Given the description of an element on the screen output the (x, y) to click on. 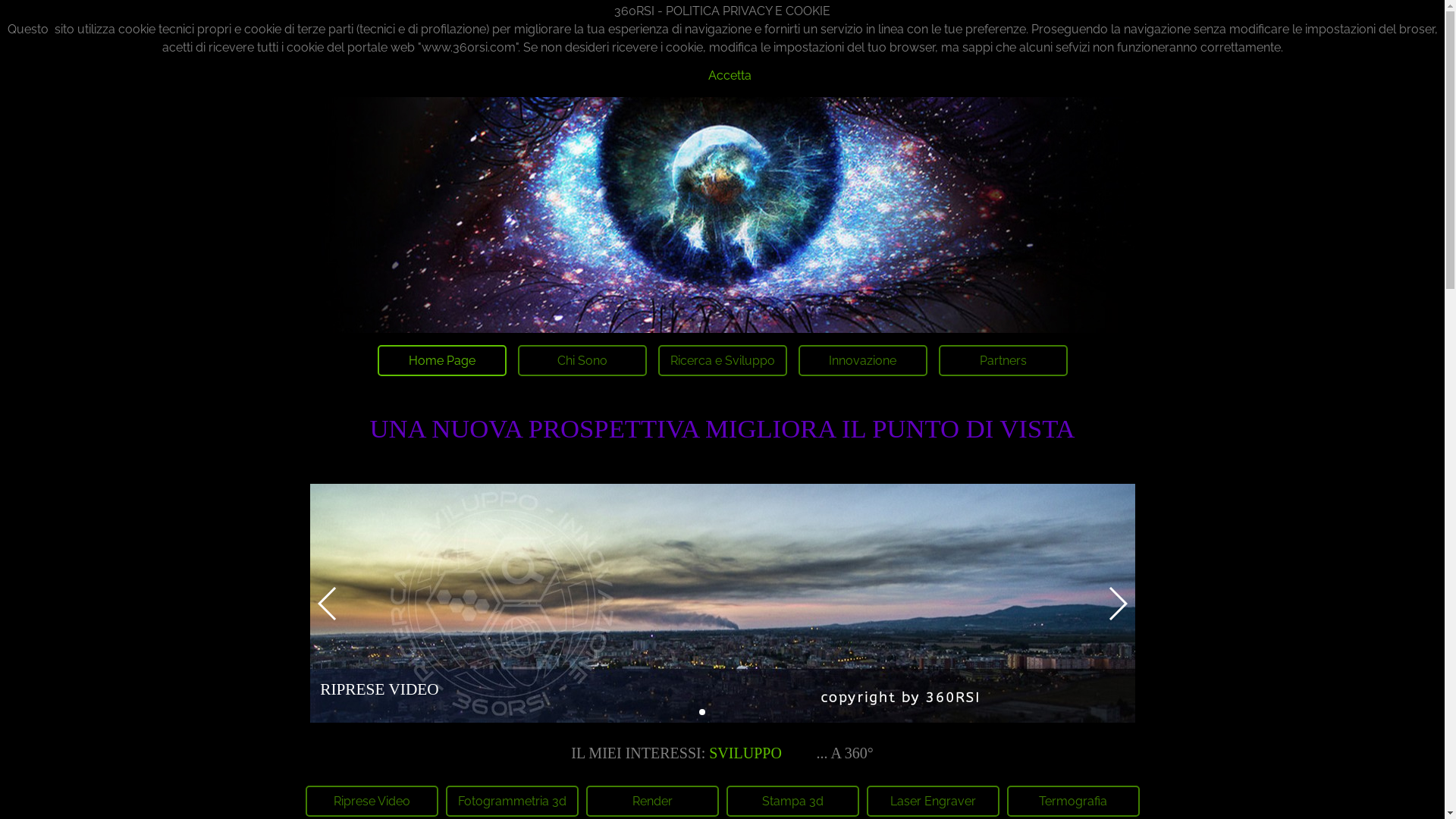
Termografia Element type: text (1073, 801)
RIPRESE VIDEO Element type: text (721, 602)
Ricerca e Sviluppo Element type: text (722, 360)
Home Page Element type: text (441, 360)
Innovazione Element type: text (862, 360)
Fotogrammetria 3d Element type: text (512, 801)
Render Element type: text (651, 801)
Laser Engraver Element type: text (932, 801)
Partners Element type: text (1003, 360)
Stampa 3d Element type: text (792, 801)
Riprese Video Element type: text (370, 801)
Chi Sono Element type: text (581, 360)
